Given the description of an element on the screen output the (x, y) to click on. 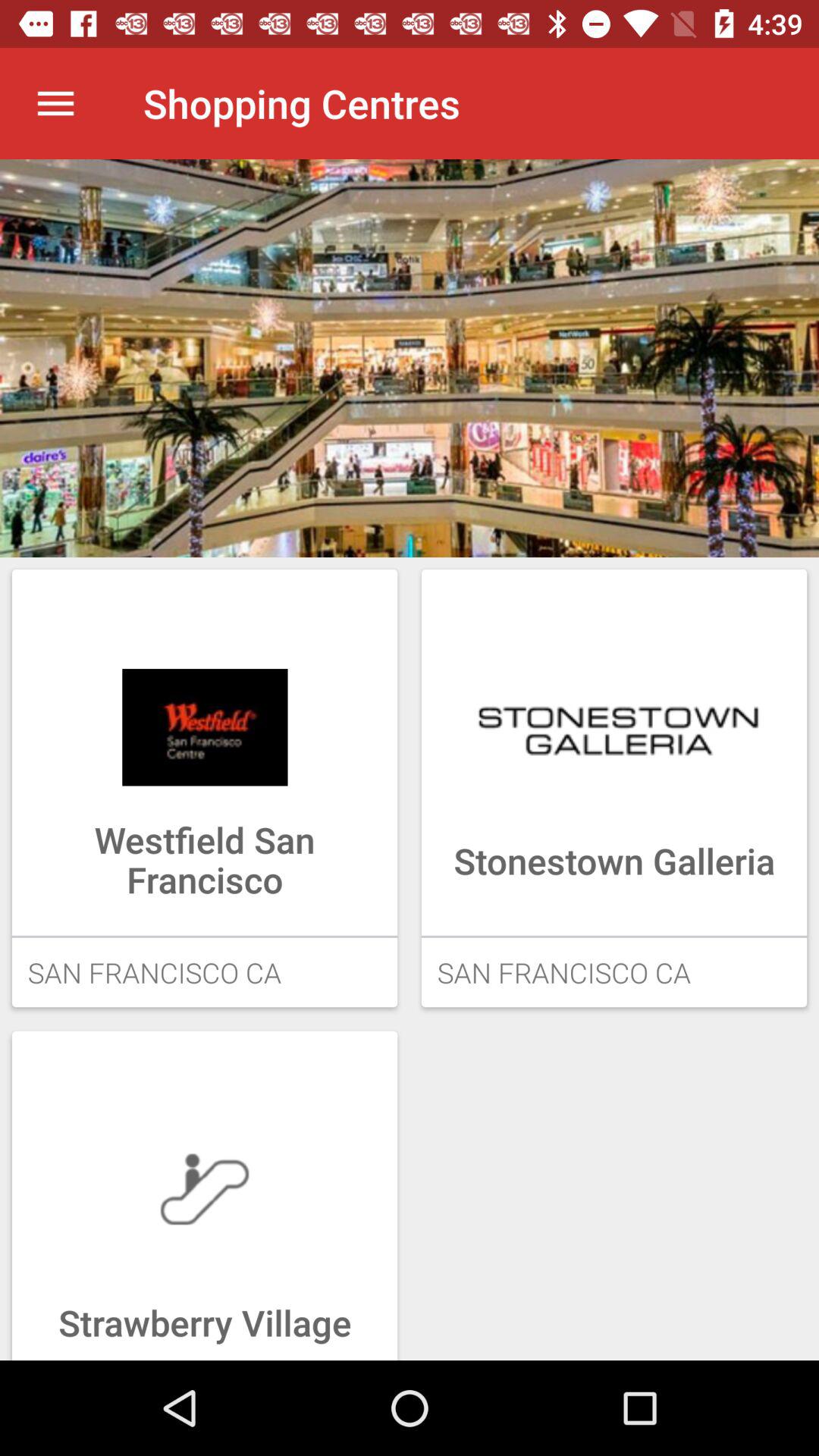
launch the icon at the top left corner (55, 103)
